Given the description of an element on the screen output the (x, y) to click on. 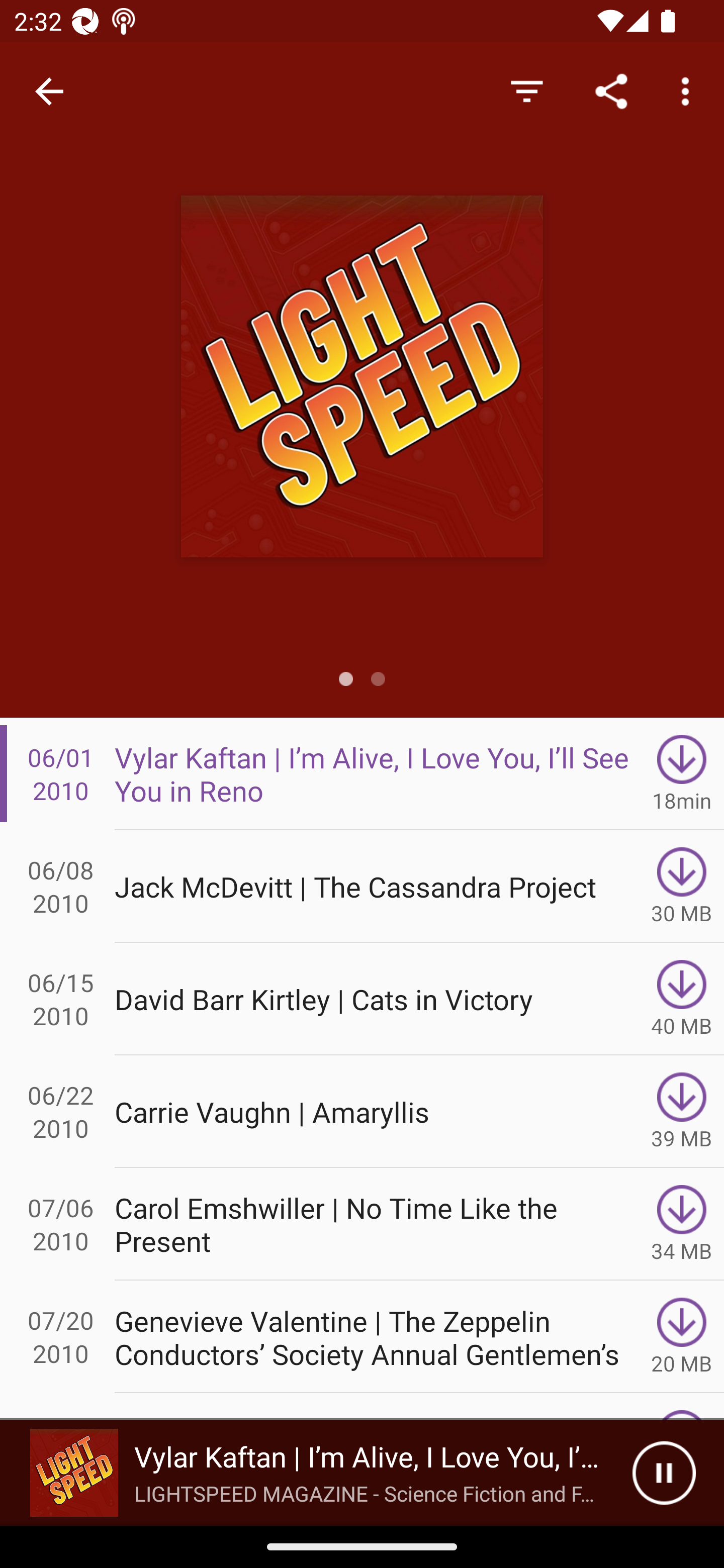
Navigate up (49, 91)
Hide Episodes (526, 90)
Share Link (611, 90)
More options (688, 90)
Download 18min (681, 773)
Download 30 MB (681, 885)
Download 40 MB (681, 998)
Download 39 MB (681, 1111)
Download 34 MB (681, 1224)
Download 20 MB (681, 1336)
Pause (663, 1472)
